Given the description of an element on the screen output the (x, y) to click on. 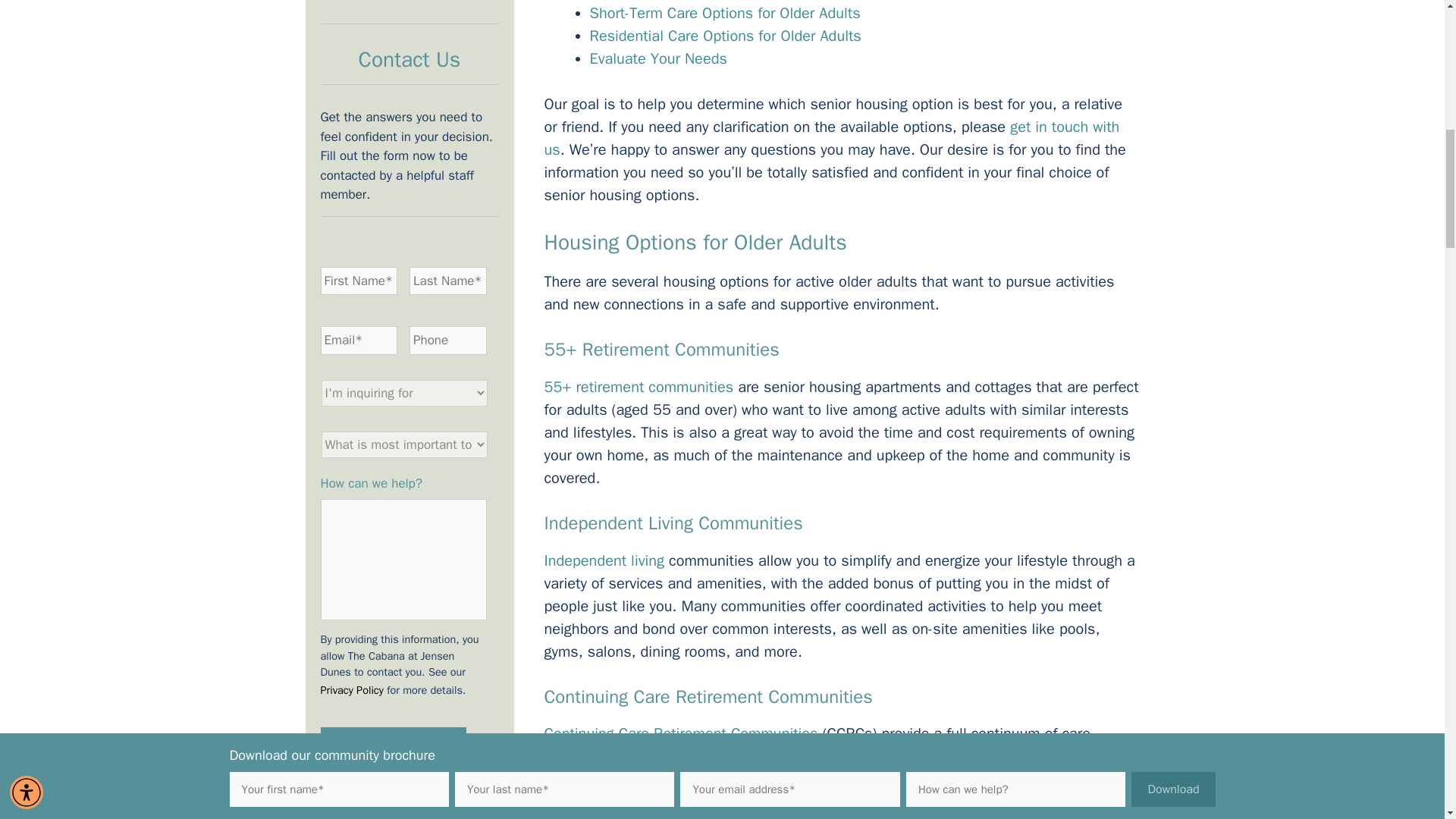
Request Information (392, 745)
